Given the description of an element on the screen output the (x, y) to click on. 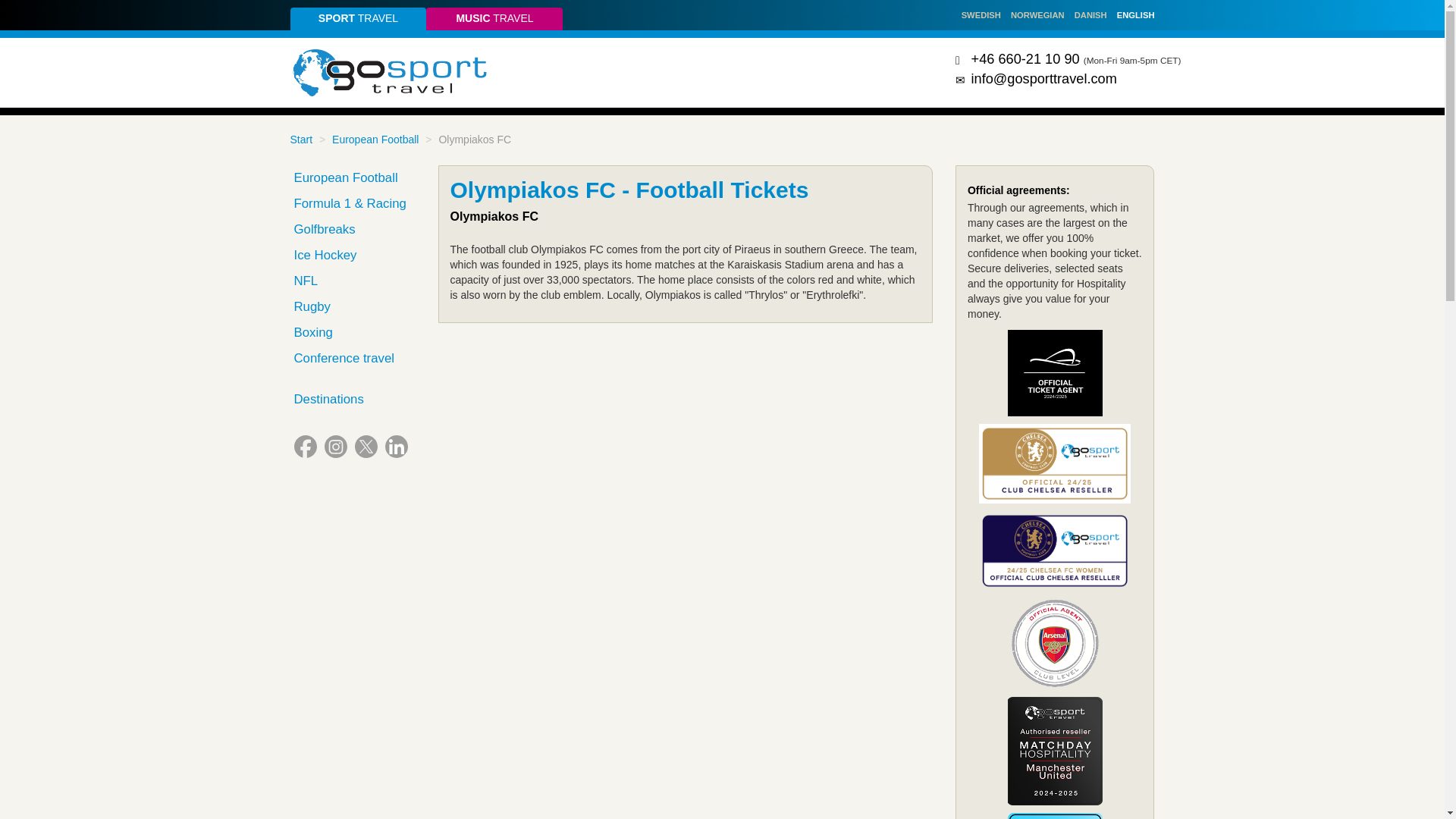
SWEDISH (980, 14)
European Football (375, 139)
SPORT TRAVEL (357, 18)
Start (301, 139)
DANISH (1090, 14)
MUSIC TRAVEL (494, 18)
ENGLISH (1135, 14)
NORWEGIAN (1037, 14)
